Given the description of an element on the screen output the (x, y) to click on. 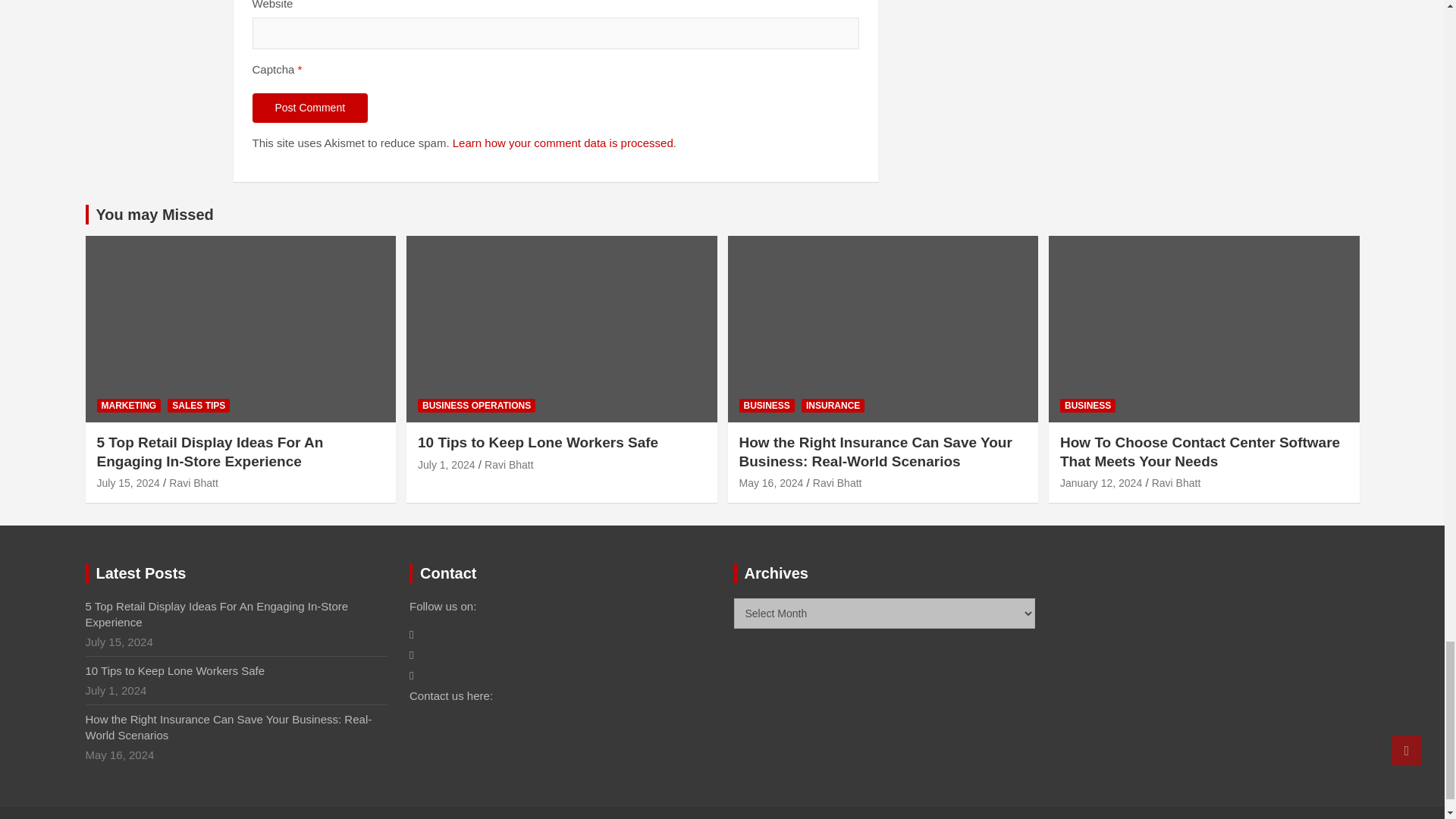
Post Comment (309, 108)
How To Choose Contact Center Software That Meets Your Needs (1100, 482)
10 Tips to Keep Lone Workers Safe (446, 464)
